Given the description of an element on the screen output the (x, y) to click on. 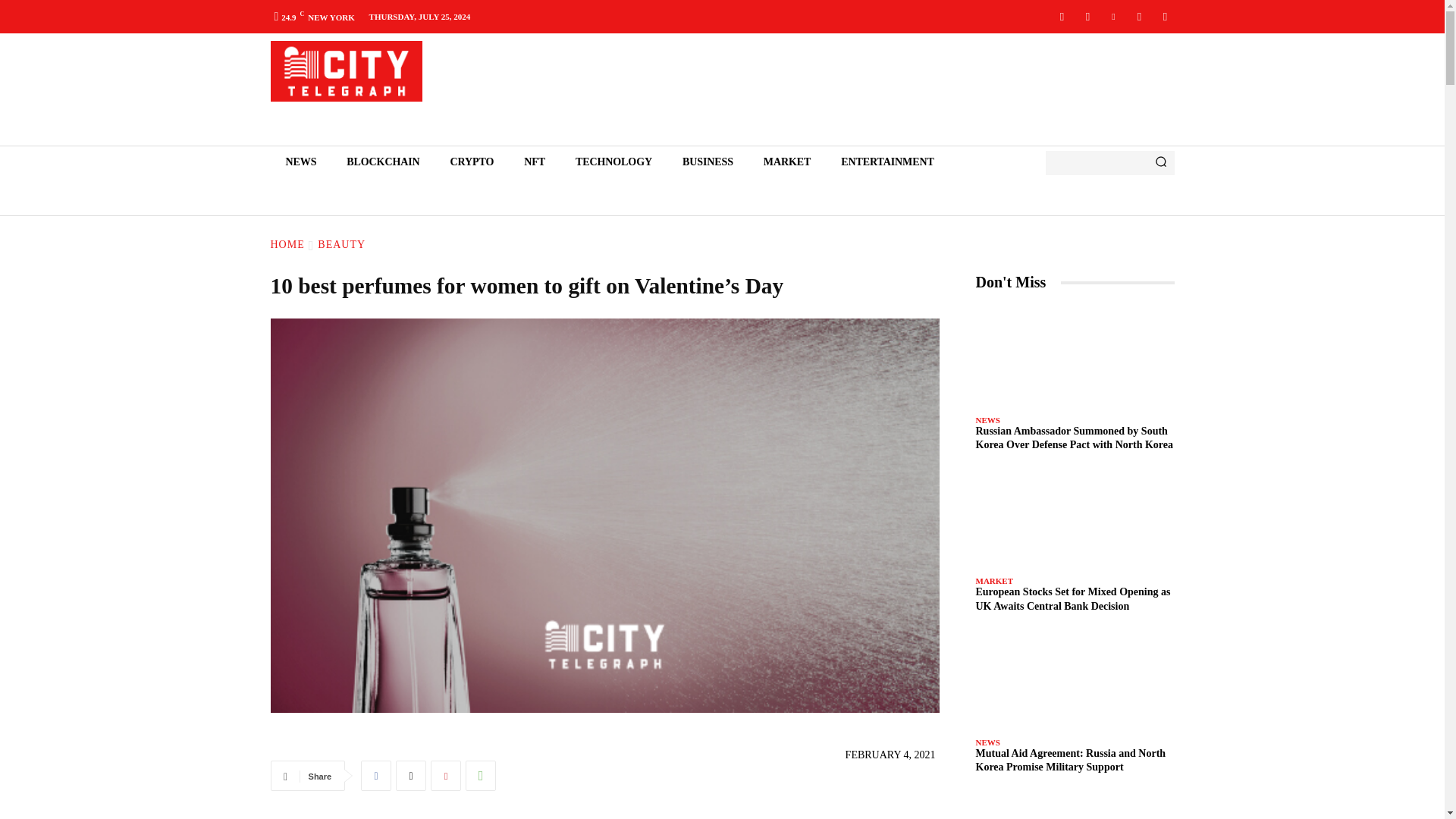
MARKET (786, 162)
HOME (286, 244)
NEWS (300, 162)
Pinterest (445, 775)
Reddit (1138, 16)
Linkedin (1112, 16)
WhatsApp (480, 775)
BEAUTY (341, 244)
ENTERTAINMENT (887, 162)
TECHNOLOGY (613, 162)
BLOCKCHAIN (382, 162)
Instagram (1087, 16)
CRYPTO (472, 162)
Twitter (411, 775)
Facebook (376, 775)
